Given the description of an element on the screen output the (x, y) to click on. 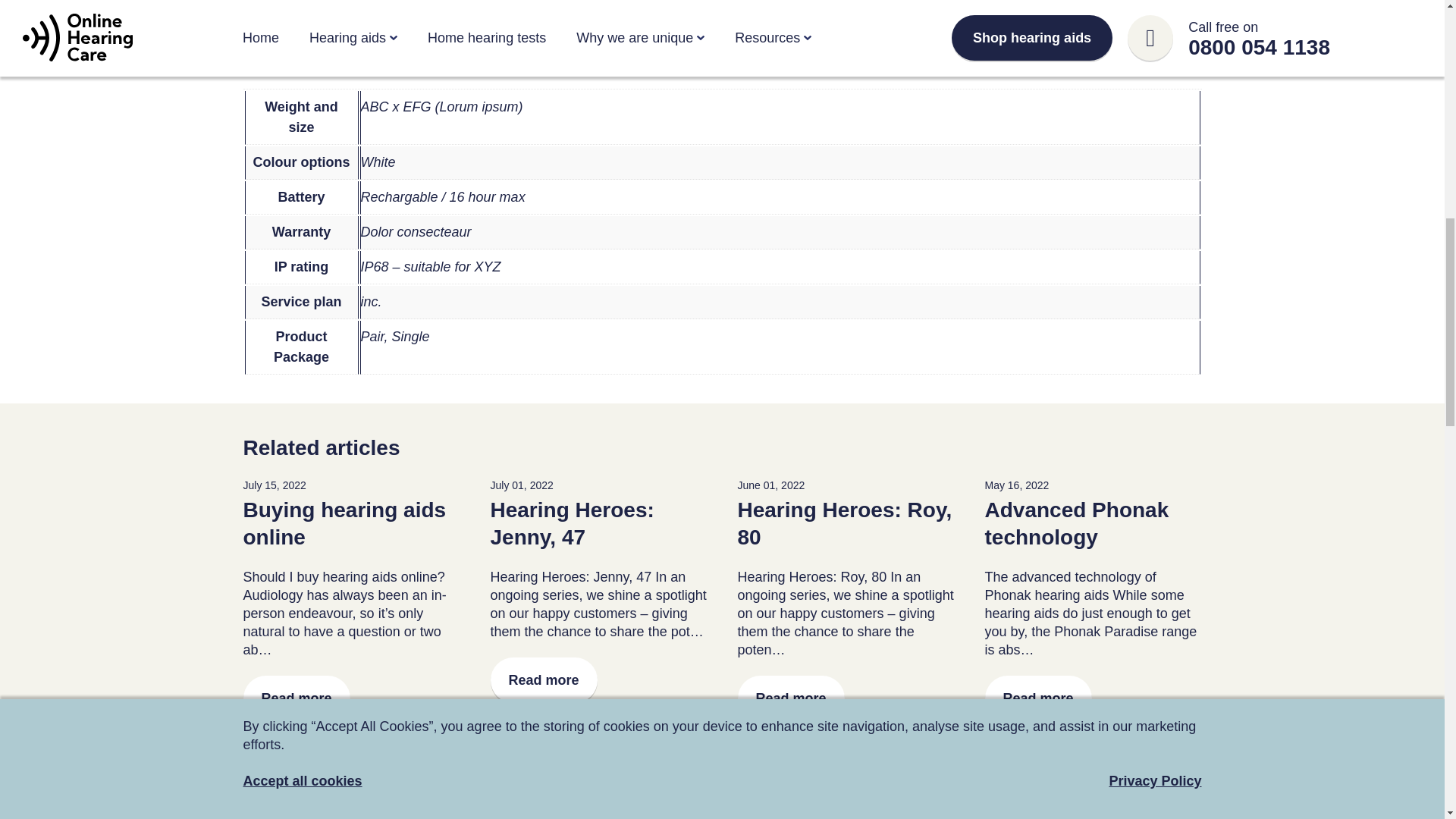
Hearing Heroes: Roy, 80 (844, 522)
Read more (296, 698)
Buying hearing aids online (344, 522)
Hearing Heroes: Jenny, 47 (571, 522)
Read more (790, 698)
Advanced Phonak technology (1076, 522)
Read more (542, 679)
